Given the description of an element on the screen output the (x, y) to click on. 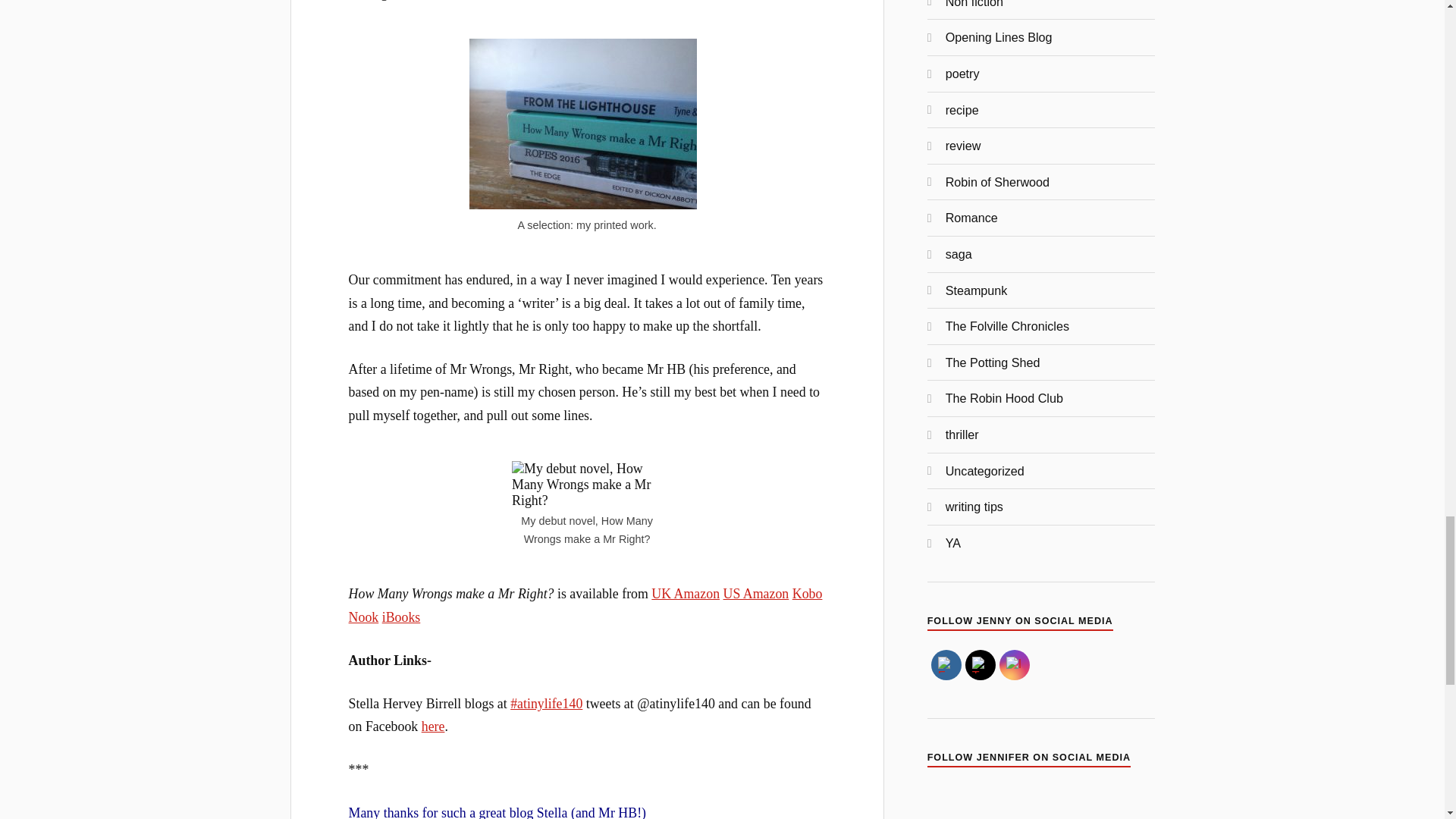
Facebook (946, 664)
here (433, 726)
Nook (363, 616)
US Amazon (756, 593)
UK Amazon (684, 593)
Instagram (1014, 664)
Kobo (807, 593)
iBooks (400, 616)
Twitter (980, 664)
